Given the description of an element on the screen output the (x, y) to click on. 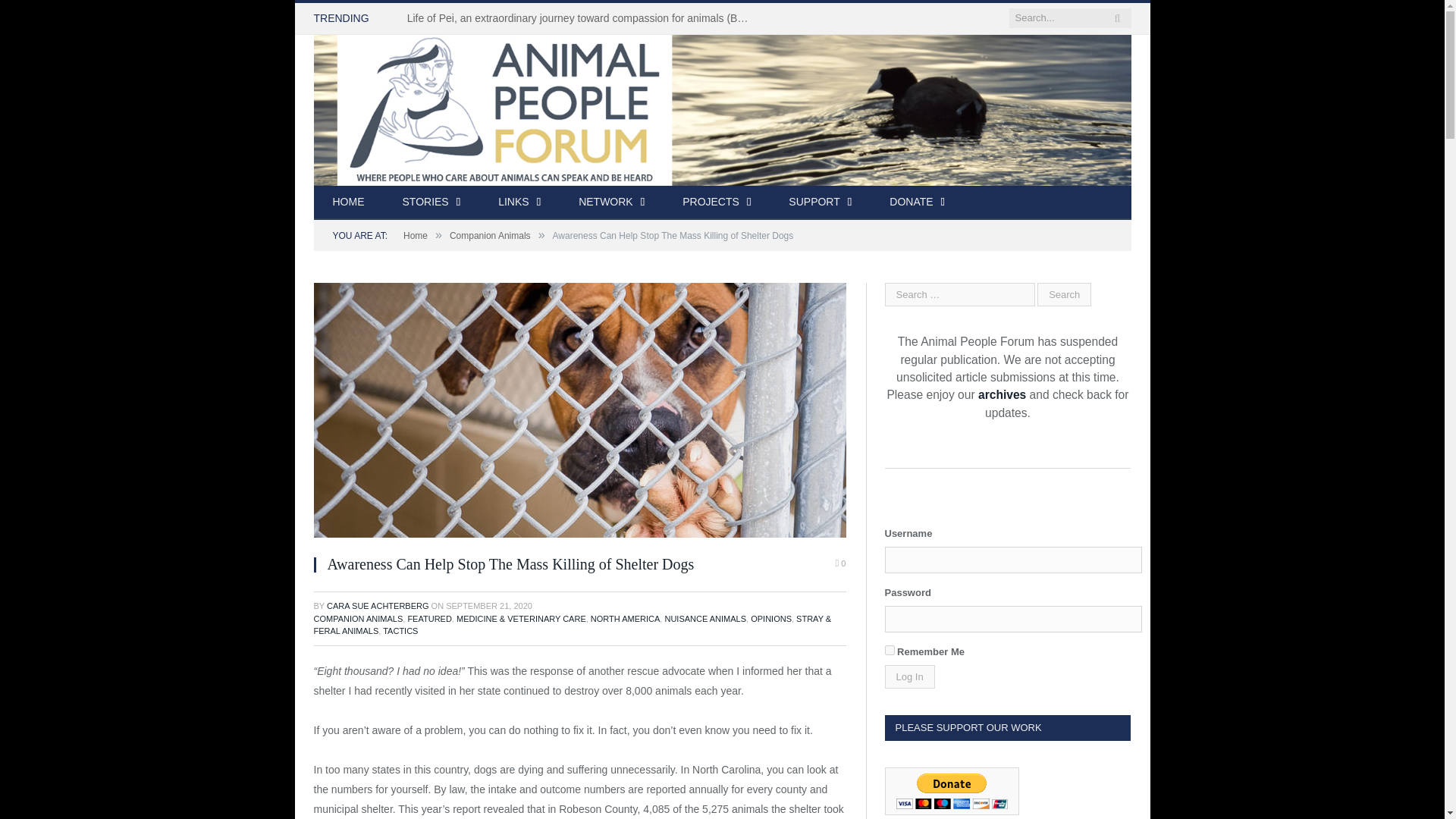
SUPPORT (820, 202)
LINKS (519, 202)
HOME (349, 202)
STORIES (432, 202)
NETWORK (611, 202)
PROJECTS (716, 202)
Log In (908, 676)
Search (1063, 294)
